Given the description of an element on the screen output the (x, y) to click on. 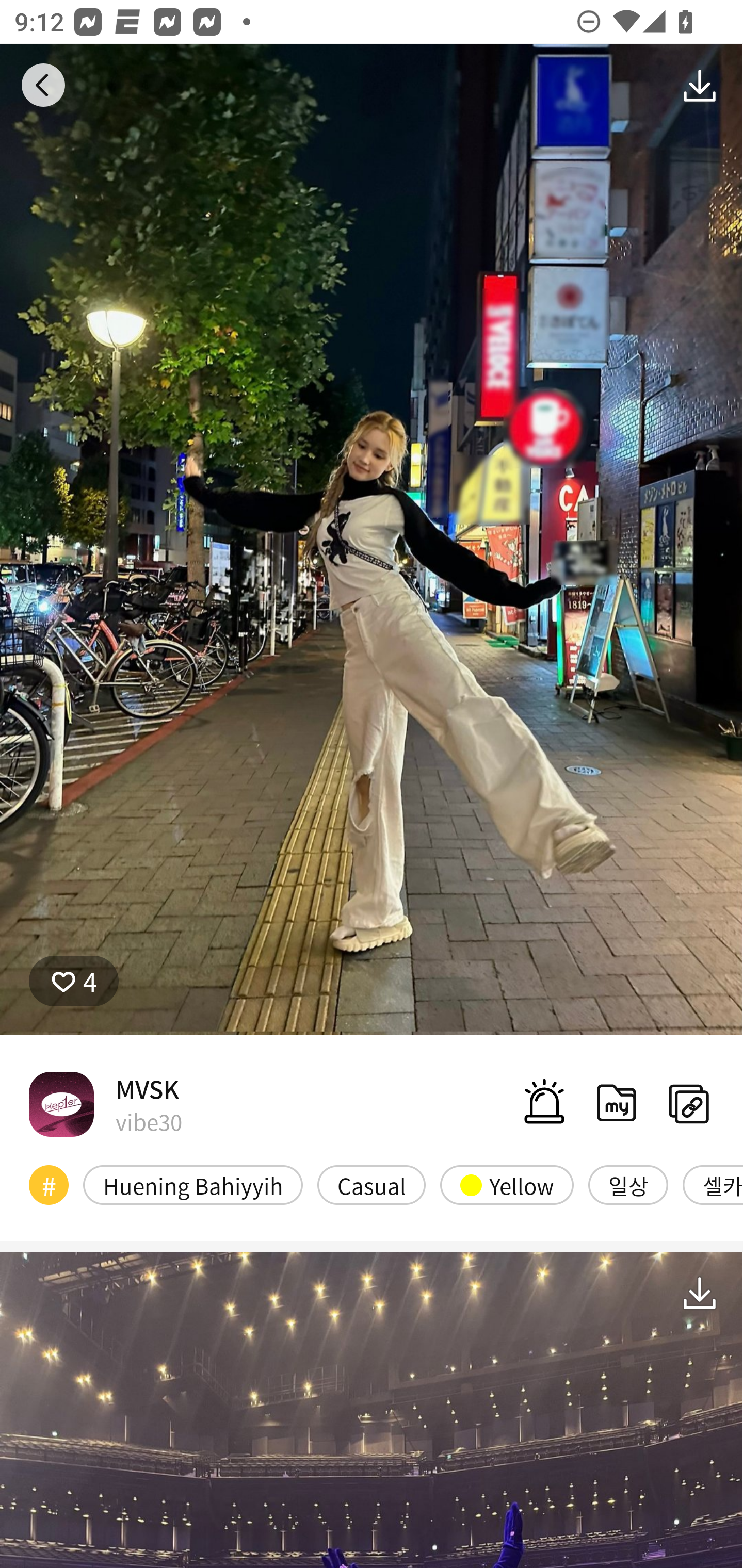
4 (73, 980)
MVSK vibe30 (105, 1103)
Huening Bahiyyih (193, 1184)
Casual (371, 1184)
Yellow (506, 1184)
일상 (627, 1184)
셀카 (712, 1184)
